Given the description of an element on the screen output the (x, y) to click on. 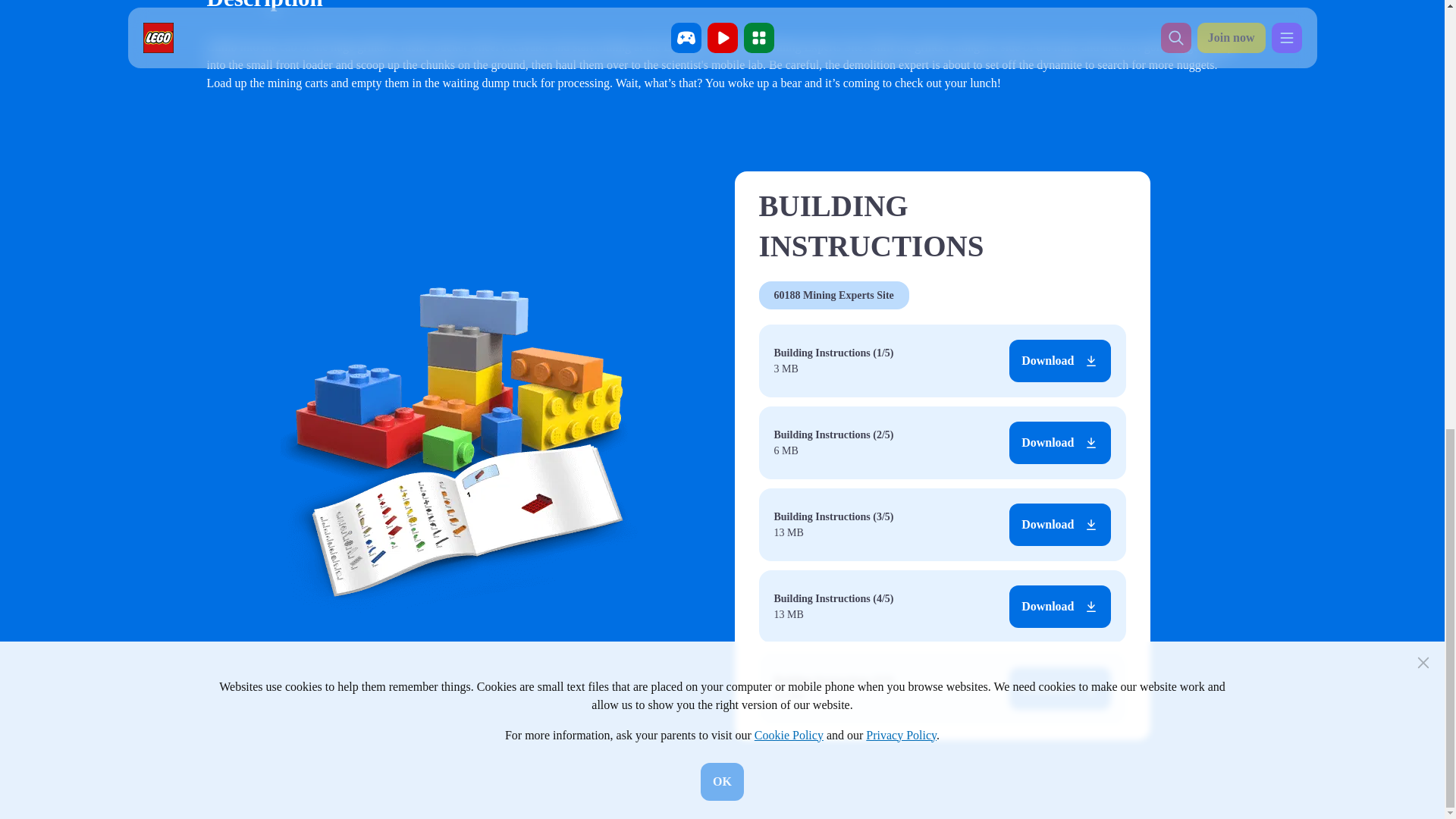
Download (1059, 360)
Download (1059, 442)
Download (1059, 606)
Download (1059, 688)
Download (1059, 524)
